Given the description of an element on the screen output the (x, y) to click on. 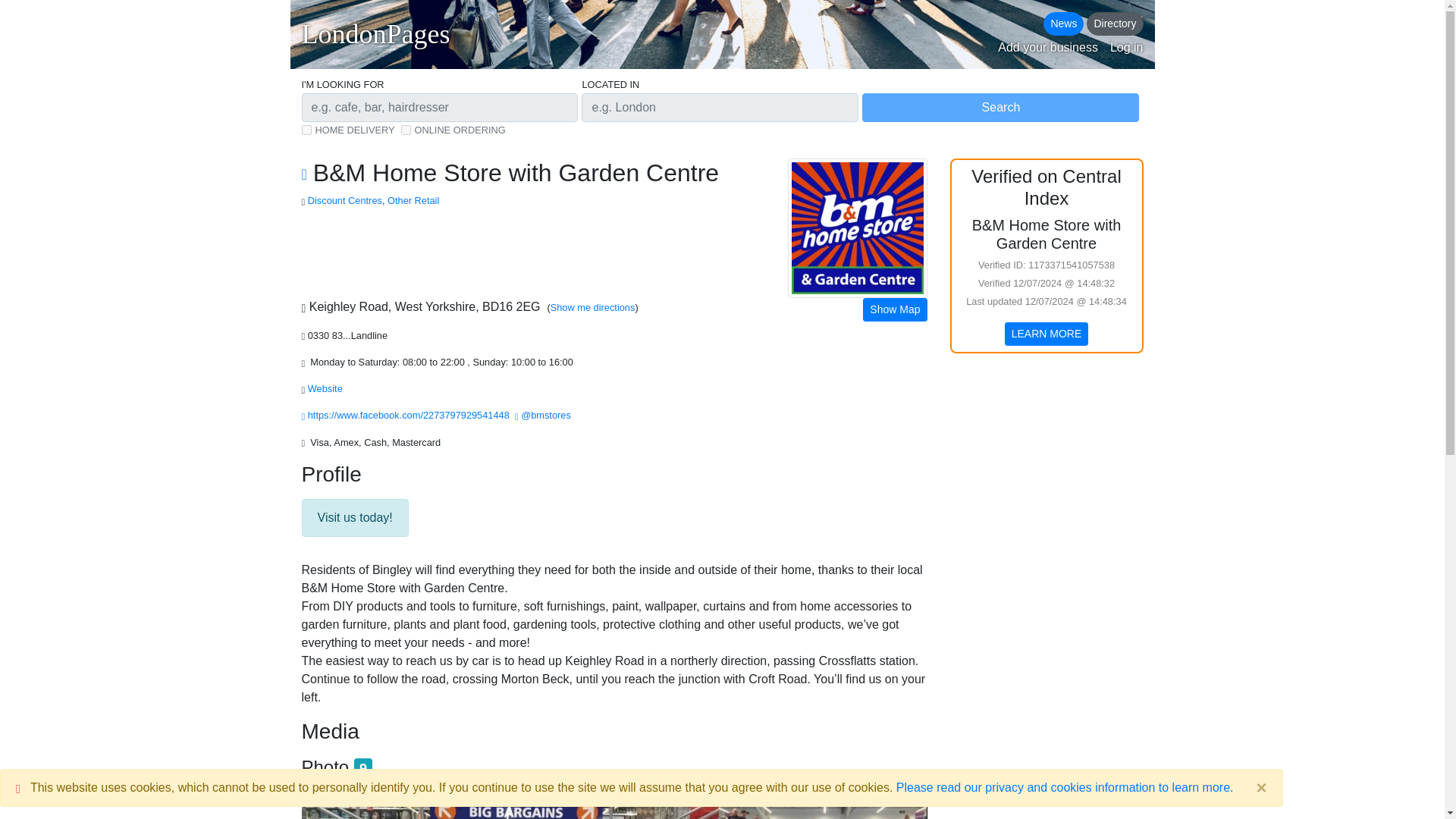
on (405, 130)
Log in (1125, 47)
News (1063, 24)
Opens in a new window (1046, 333)
show me more (413, 200)
0330 83...Landline (348, 335)
Website (326, 388)
Show me directions (592, 307)
Discount Centres (344, 200)
click to show number (348, 335)
Show Map (894, 309)
Search (999, 107)
show me more (344, 200)
on (306, 130)
